Given the description of an element on the screen output the (x, y) to click on. 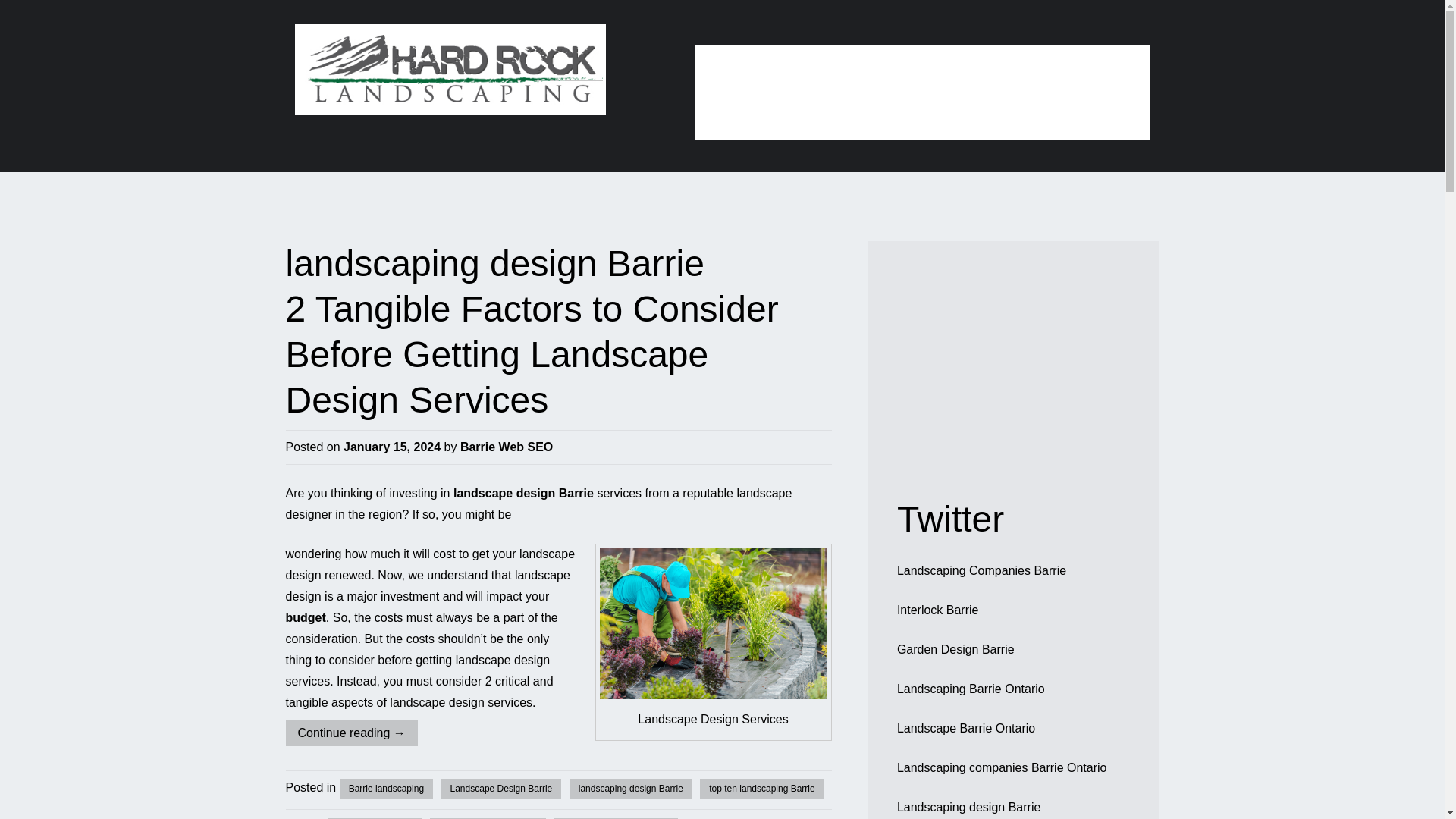
10:16 pm (392, 446)
budget (304, 617)
landscape design Barrie (523, 492)
top ten landscaping Barrie (762, 788)
NEW! MACHINE RENTALS (916, 112)
Blog (988, 72)
Landscape Design Barrie (501, 788)
January 15, 2024 (392, 446)
View all posts by Barrie Web SEO (506, 446)
Home (735, 72)
Barrie landscaping (385, 788)
